Given the description of an element on the screen output the (x, y) to click on. 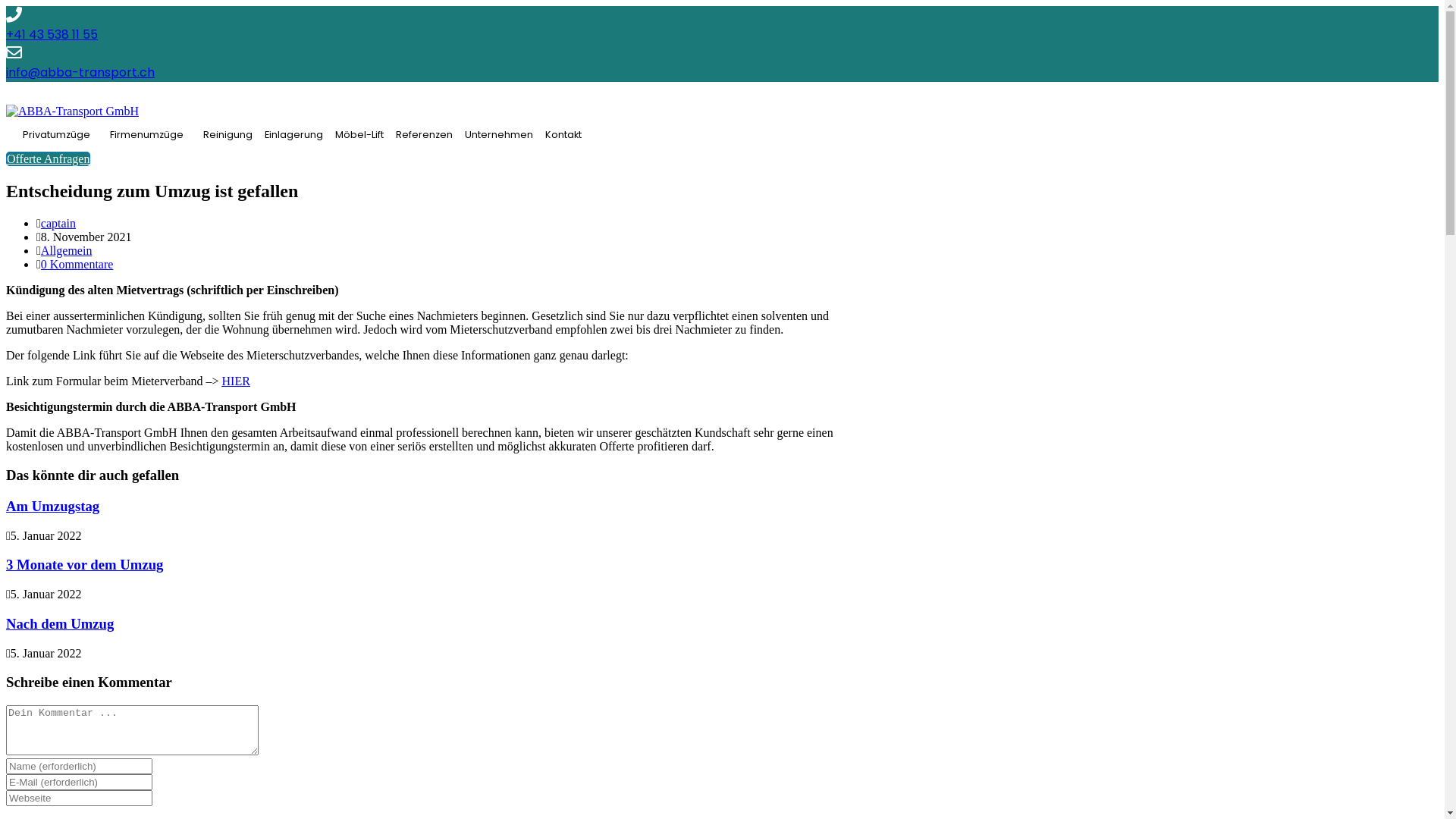
Reinigung Element type: text (227, 135)
Am Umzugstag Element type: text (52, 506)
HIER Element type: text (236, 380)
Offerte Anfragen Element type: text (48, 158)
Kontakt Element type: text (563, 135)
Einlagerung Element type: text (293, 135)
Referenzen Element type: text (423, 135)
0 Kommentare Element type: text (76, 263)
Allgemein Element type: text (66, 250)
captain Element type: text (57, 222)
info@abba-transport.ch Element type: text (80, 72)
3 Monate vor dem Umzug Element type: text (84, 564)
Unternehmen Element type: text (498, 135)
Zum Inhalt springen Element type: text (5, 5)
Nach dem Umzug Element type: text (59, 623)
+41 43 538 11 55 Element type: text (51, 34)
